Given the description of an element on the screen output the (x, y) to click on. 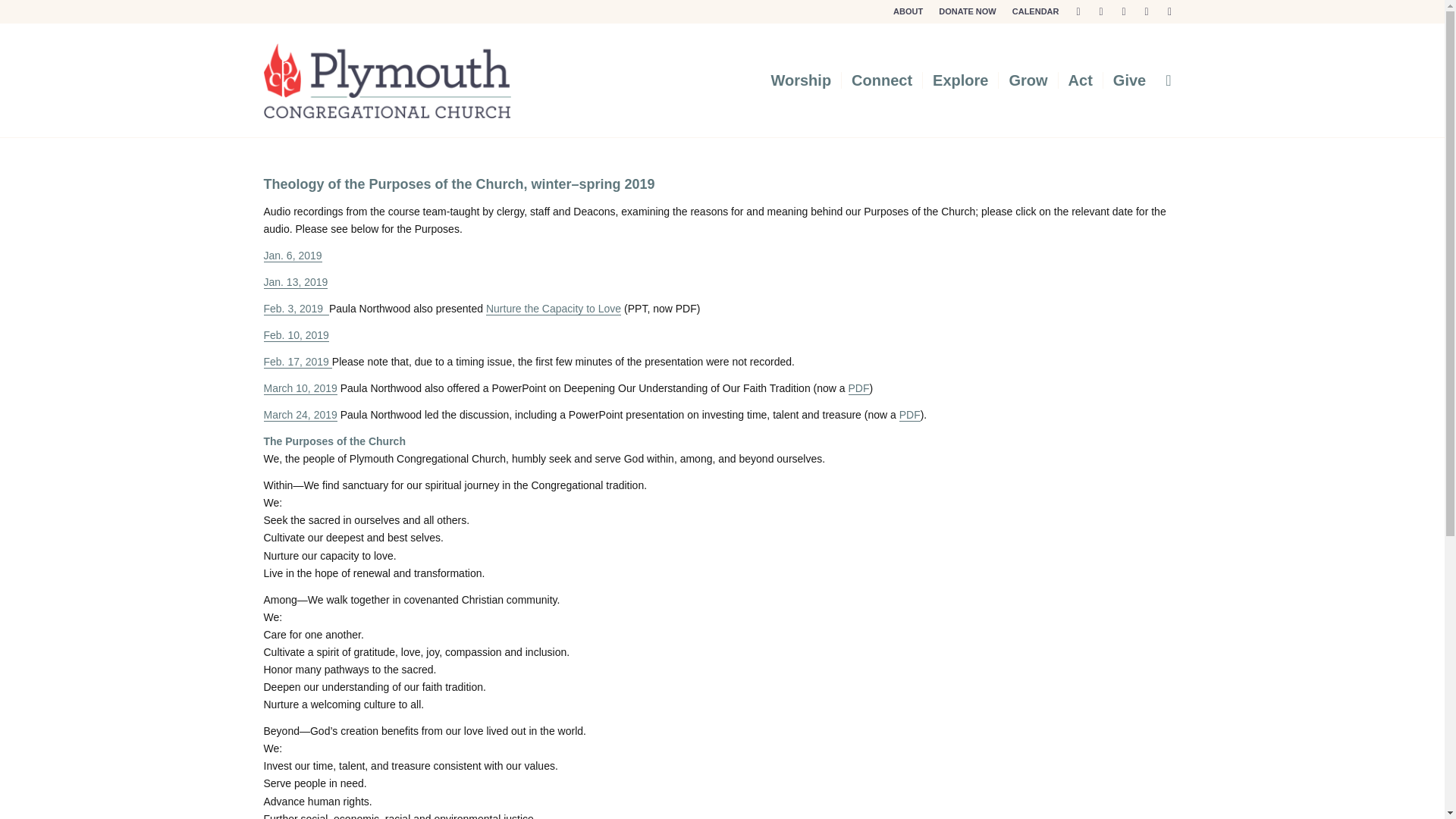
Instagram (1124, 11)
March 24, 2019 (300, 414)
Youtube (1146, 11)
Feb. 10, 2019 (296, 335)
PDF (909, 414)
Feb. 17, 2019  (297, 361)
Twitter (1078, 11)
DONATE NOW (967, 11)
ABOUT (908, 11)
Jan. 6, 2019 (292, 255)
Feb. 3, 2019   (296, 308)
Jan. 13, 2019 (296, 282)
CALENDAR (1035, 11)
Facebook (1101, 11)
PDF (858, 388)
